Given the description of an element on the screen output the (x, y) to click on. 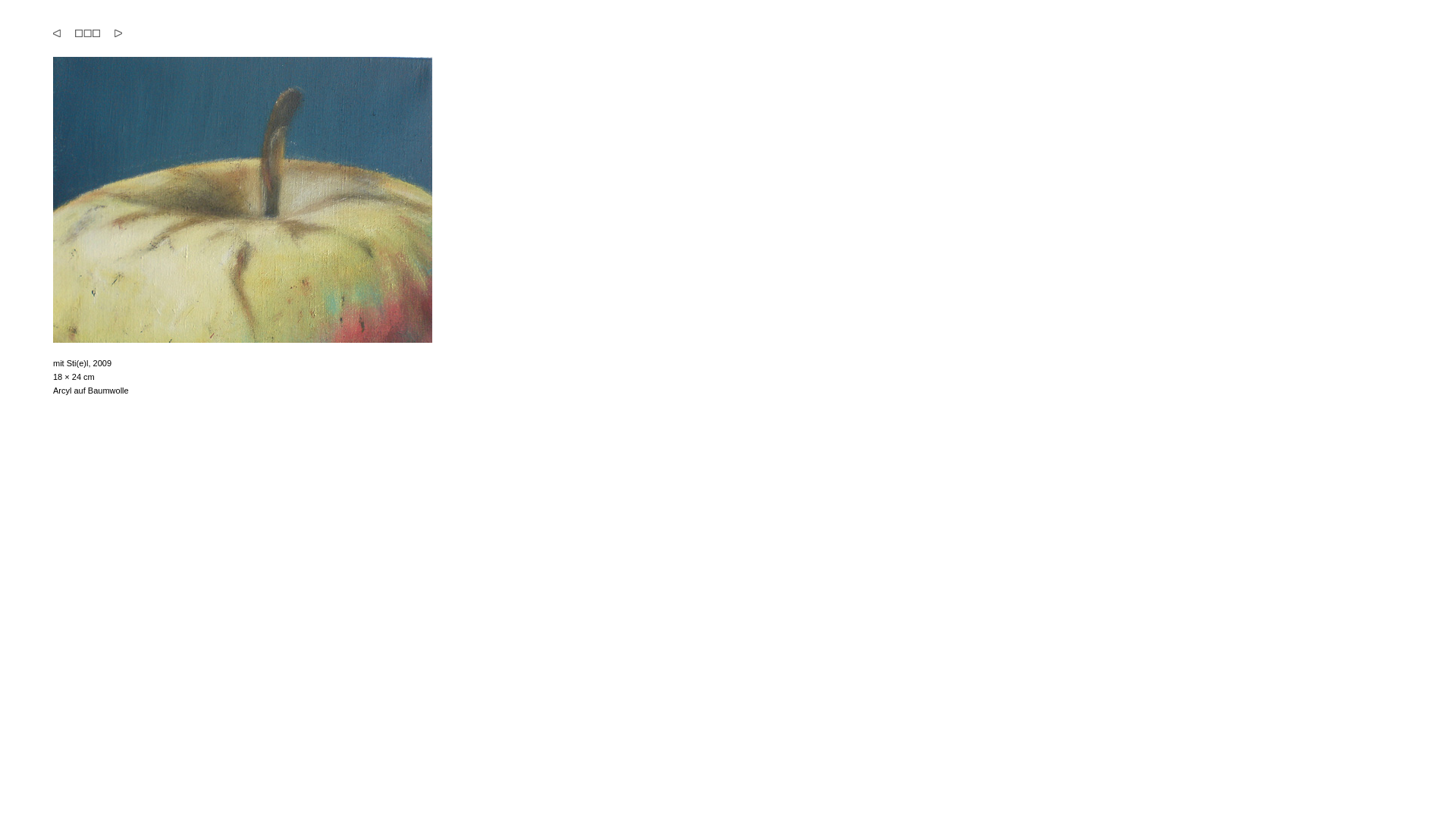
weiter Element type: hover (118, 33)
